Given the description of an element on the screen output the (x, y) to click on. 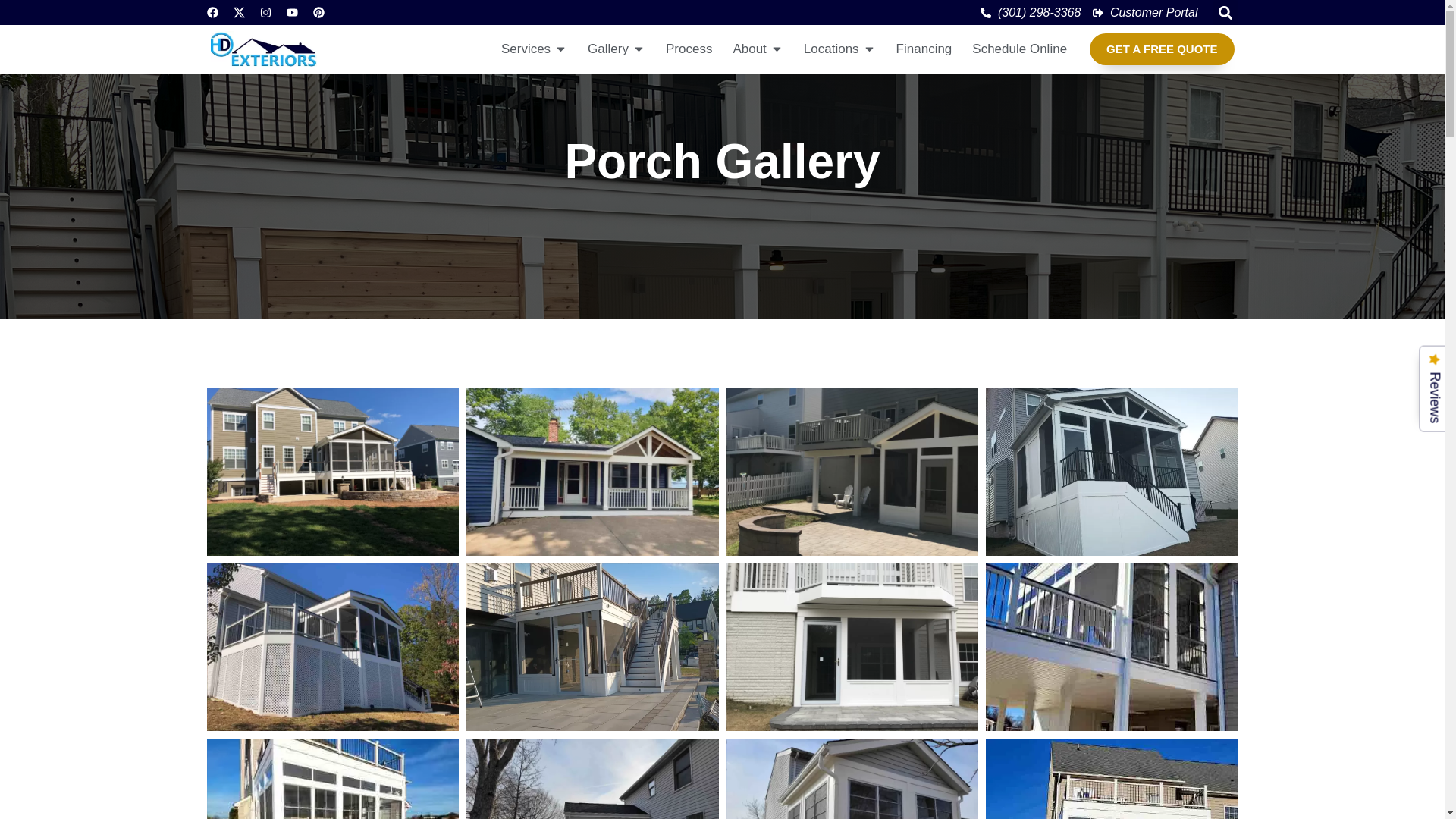
Customer Portal (1144, 12)
Gallery (608, 48)
Locations (831, 48)
Process (688, 48)
Services (525, 48)
HD-Exterior-Sky-Blue-Logo (264, 48)
About (748, 48)
Financing (924, 48)
Schedule Online (1019, 48)
